Given the description of an element on the screen output the (x, y) to click on. 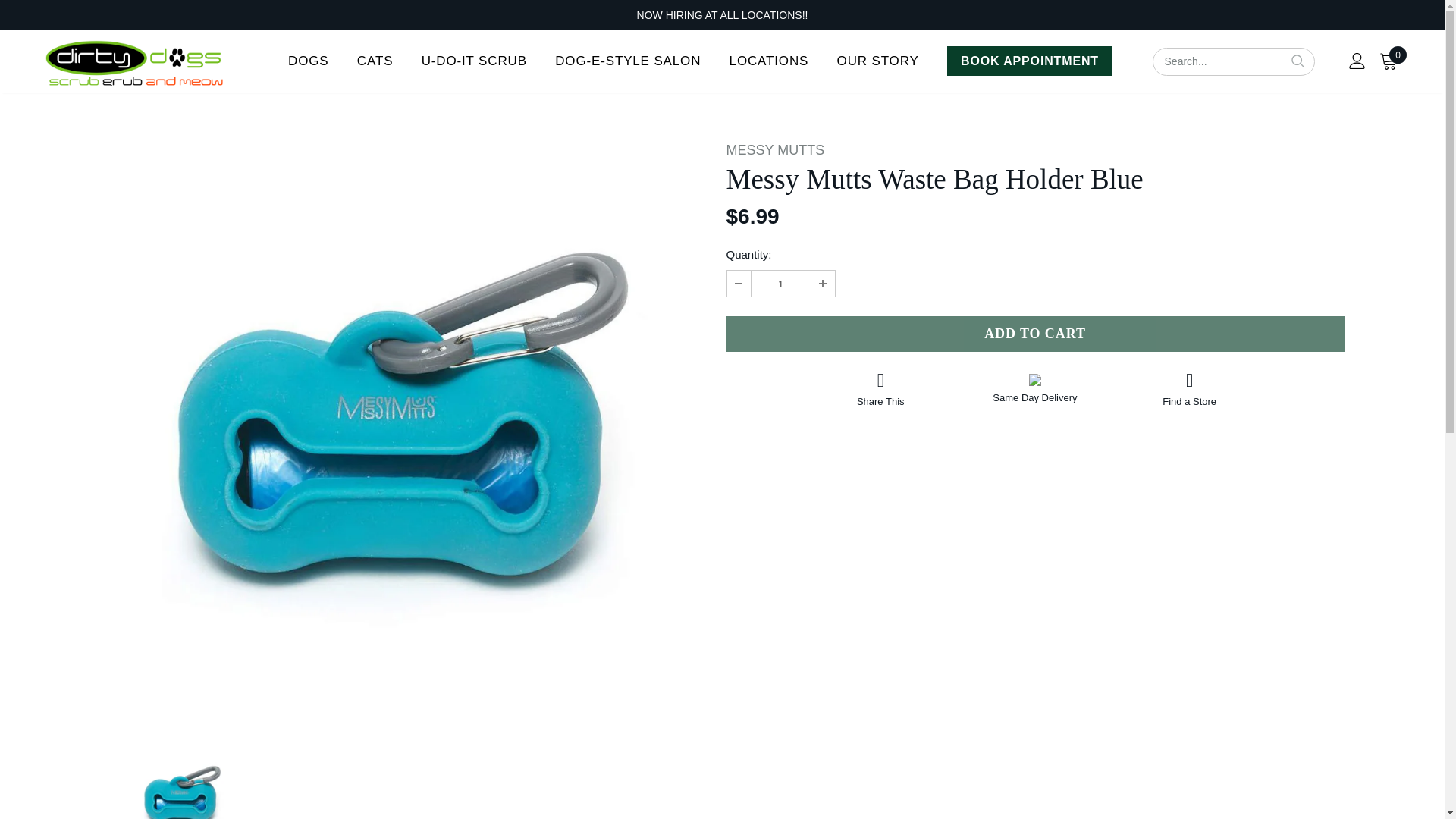
Logo (134, 63)
1 (780, 283)
Add to Cart (1034, 334)
Cart Icon (1387, 60)
